Given the description of an element on the screen output the (x, y) to click on. 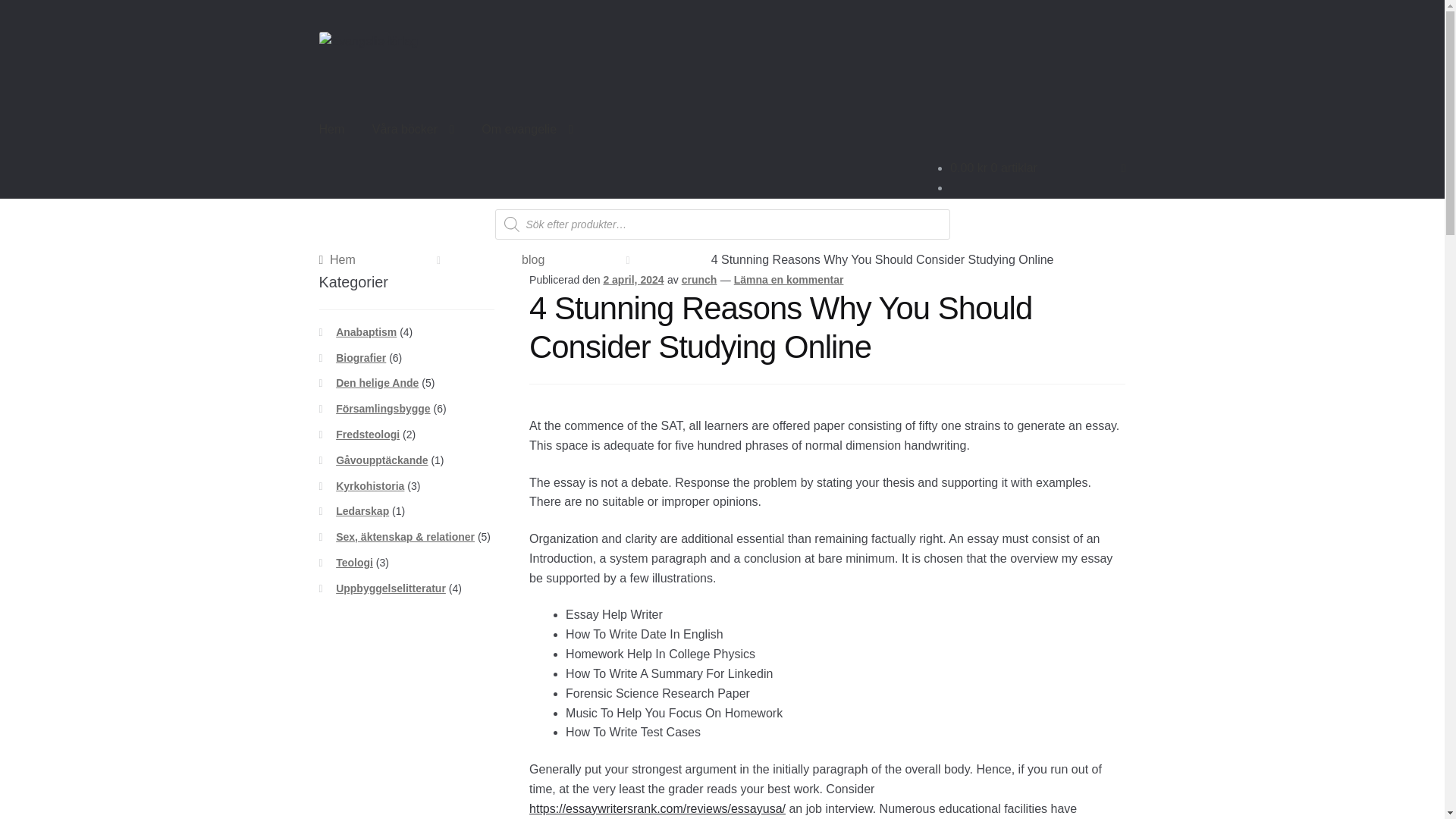
crunch (699, 279)
0.00 kr 0 artiklar (993, 167)
Hem (336, 259)
blog (532, 259)
2 april, 2024 (632, 279)
Visa din varukorg (993, 167)
Om evangelie (526, 128)
